Given the description of an element on the screen output the (x, y) to click on. 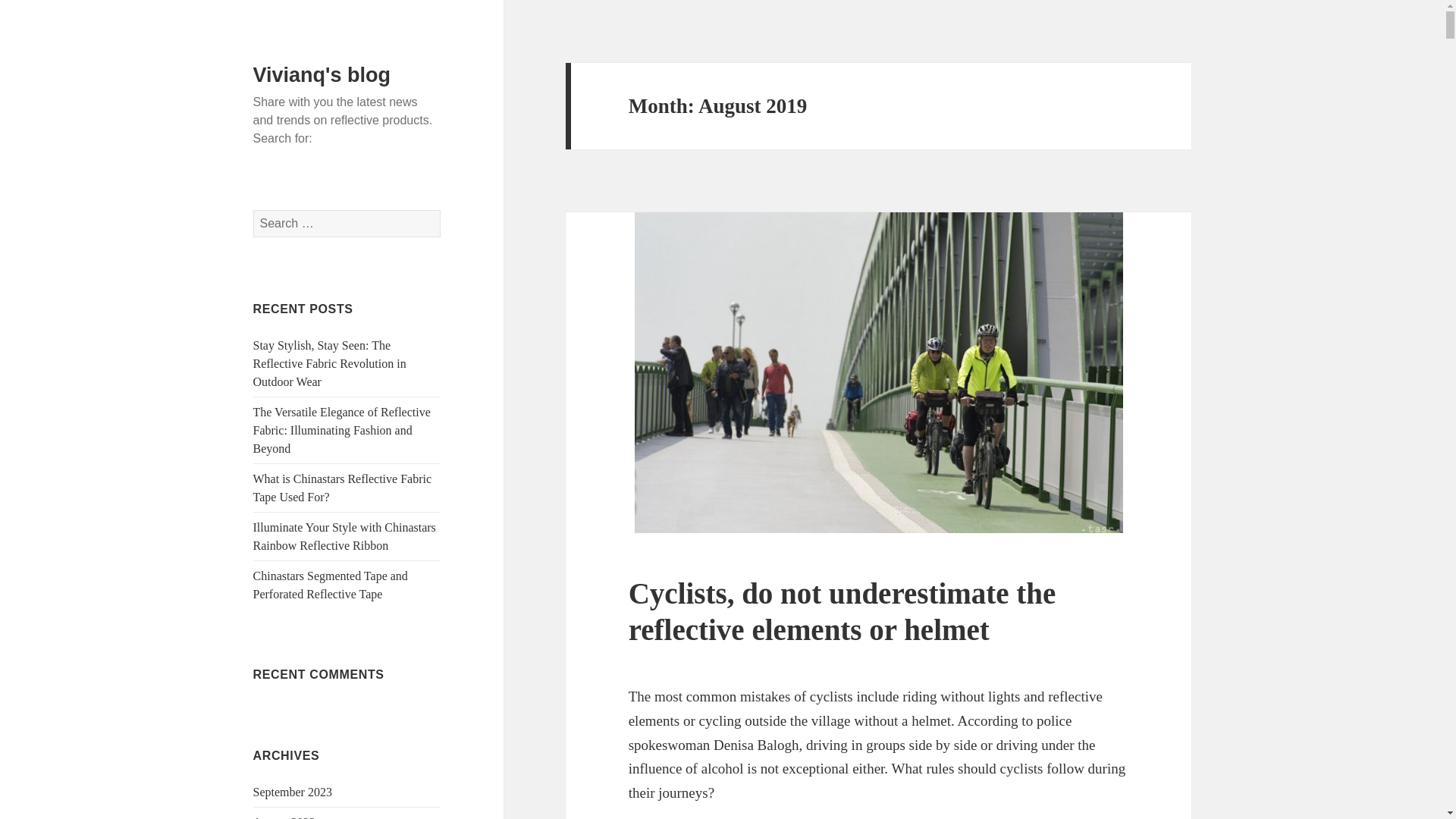
What is Chinastars Reflective Fabric Tape Used For? (341, 487)
Vivianq's blog (321, 74)
Chinastars Segmented Tape and Perforated Reflective Tape (330, 584)
August 2023 (284, 817)
September 2023 (292, 791)
